Given the description of an element on the screen output the (x, y) to click on. 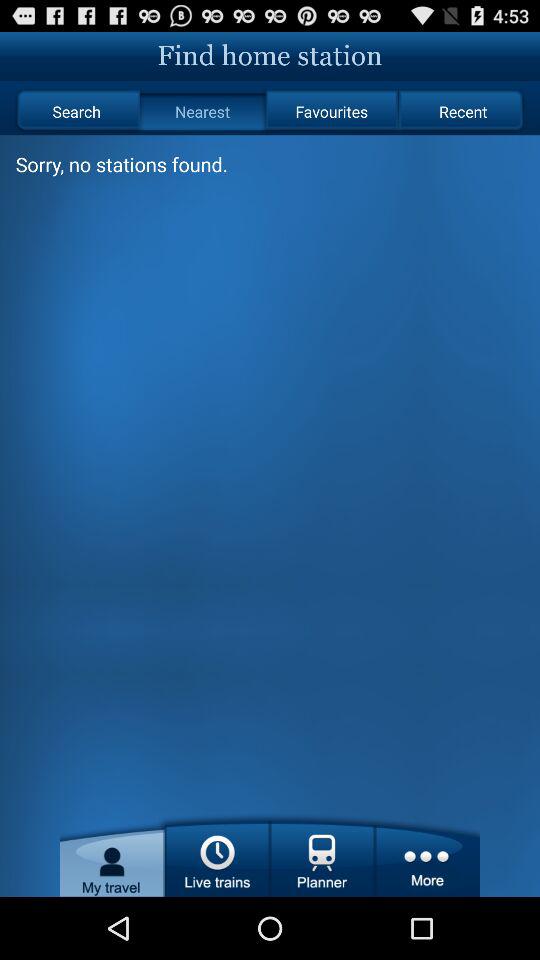
select item below the sorry no stations item (270, 544)
